Given the description of an element on the screen output the (x, y) to click on. 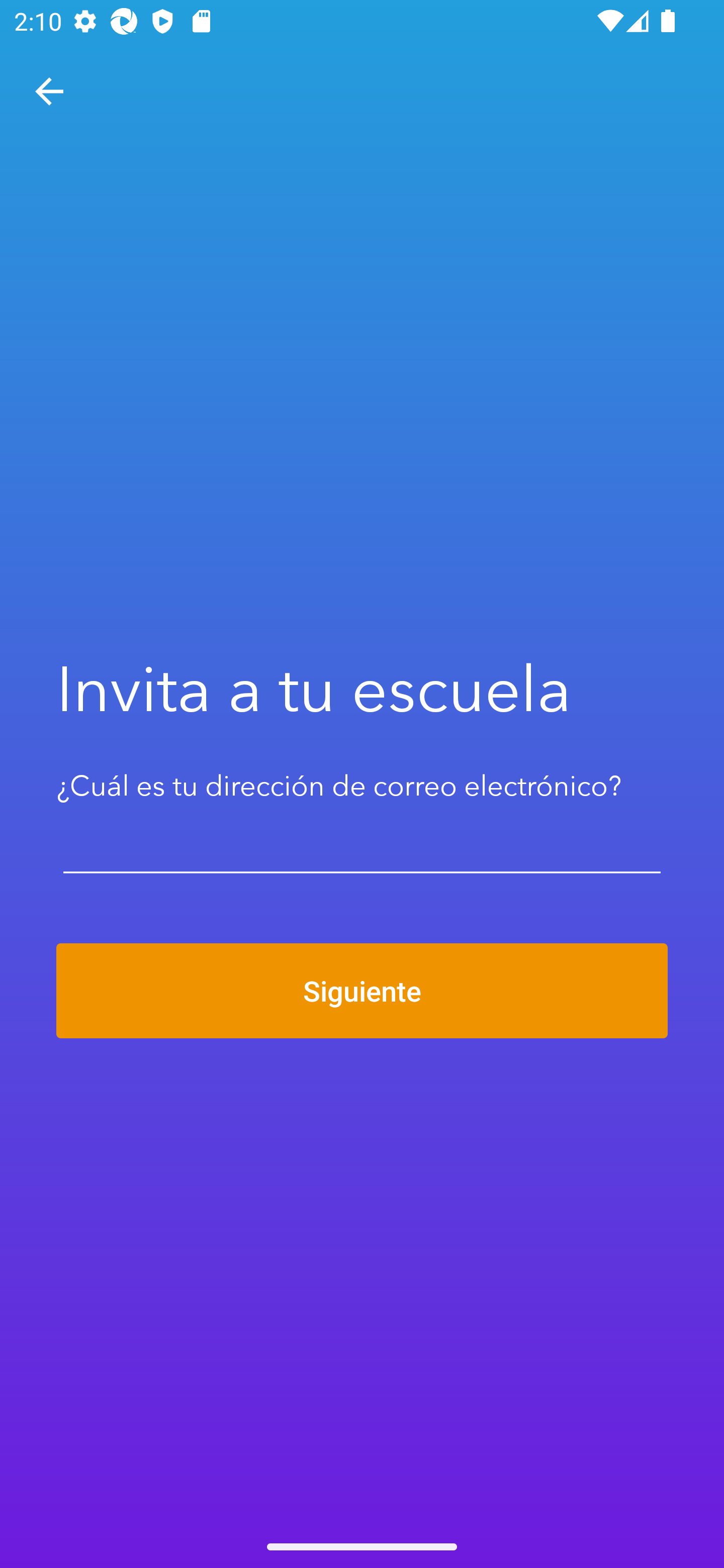
Navegar hacia arriba (49, 91)
Siguiente (361, 990)
